Given the description of an element on the screen output the (x, y) to click on. 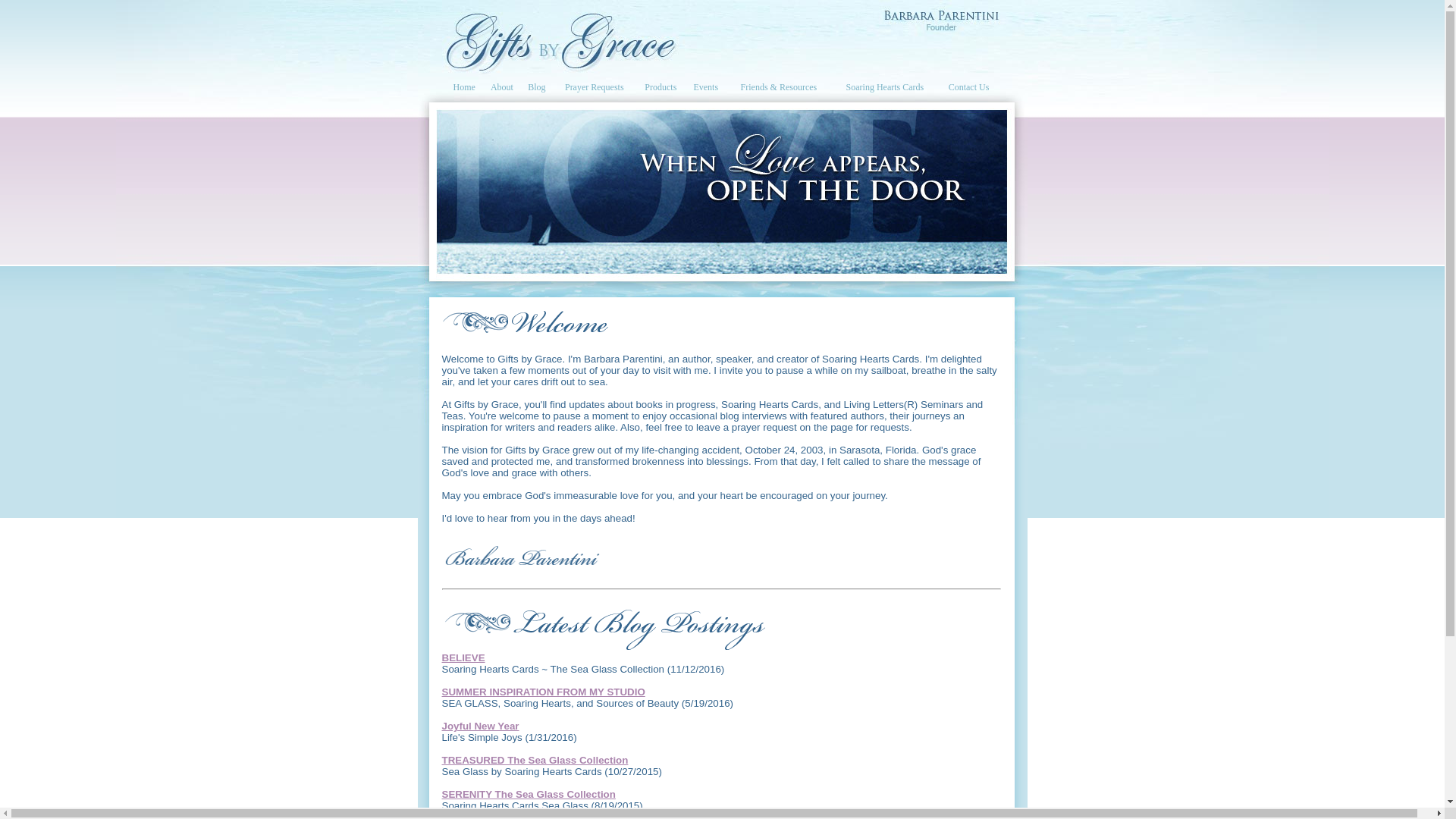
BELIEVE (462, 657)
SERENITY The Sea Glass Collection (527, 794)
Joyful New Year (479, 726)
Events (705, 87)
Contact Us (968, 87)
Prayer Requests (594, 87)
TREASURED The Sea Glass Collection (534, 759)
Products (660, 87)
Soaring Hearts Cards (884, 87)
About (502, 87)
Home (464, 87)
SUMMER INSPIRATION FROM MY STUDIO (543, 691)
Blog (537, 87)
